Given the description of an element on the screen output the (x, y) to click on. 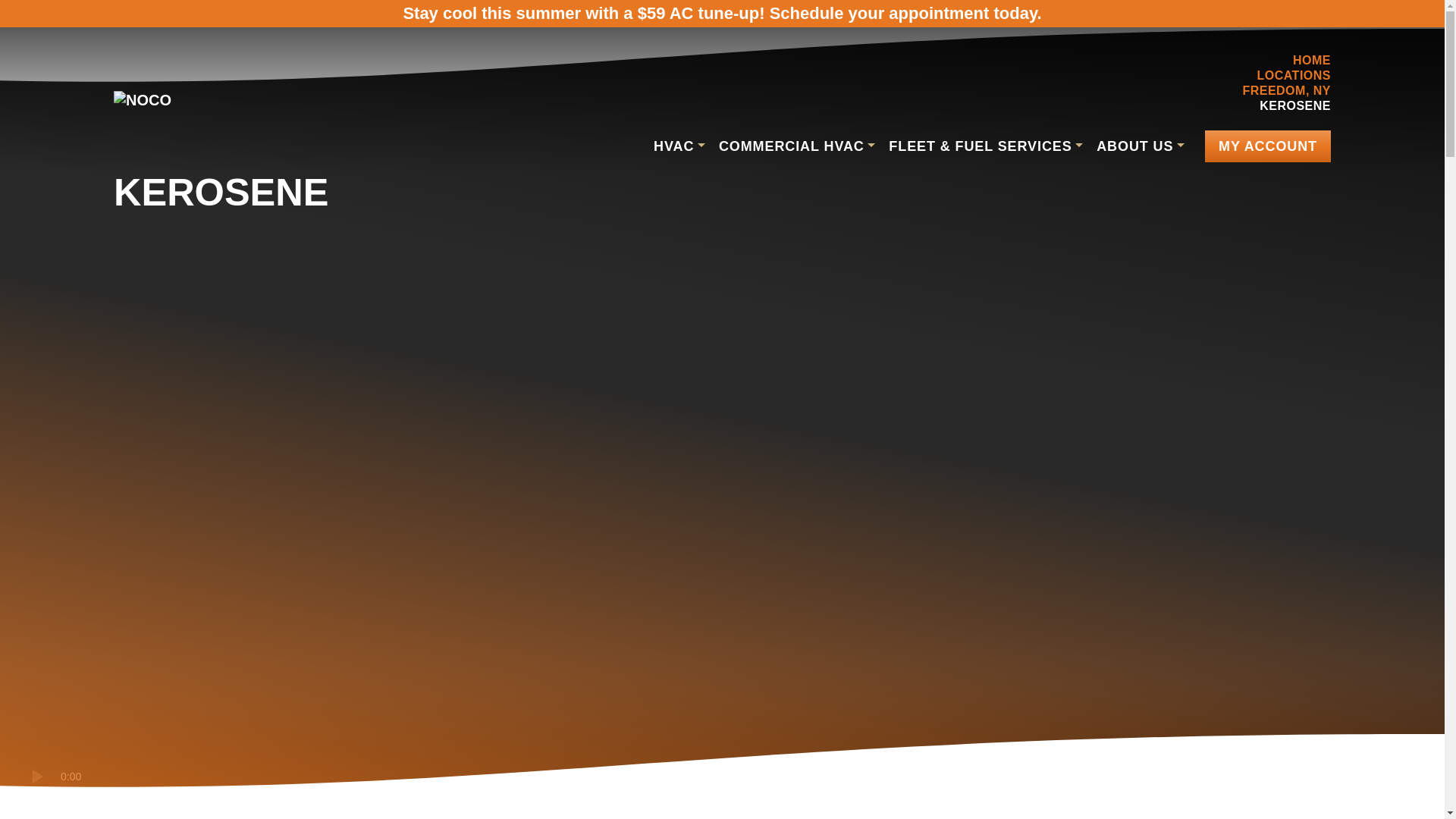
LOCATIONS (1293, 74)
HOME (1311, 60)
COMMERCIAL HVAC (796, 146)
ABOUT US (1140, 146)
HVAC (678, 146)
FREEDOM, NY (1285, 90)
